Given the description of an element on the screen output the (x, y) to click on. 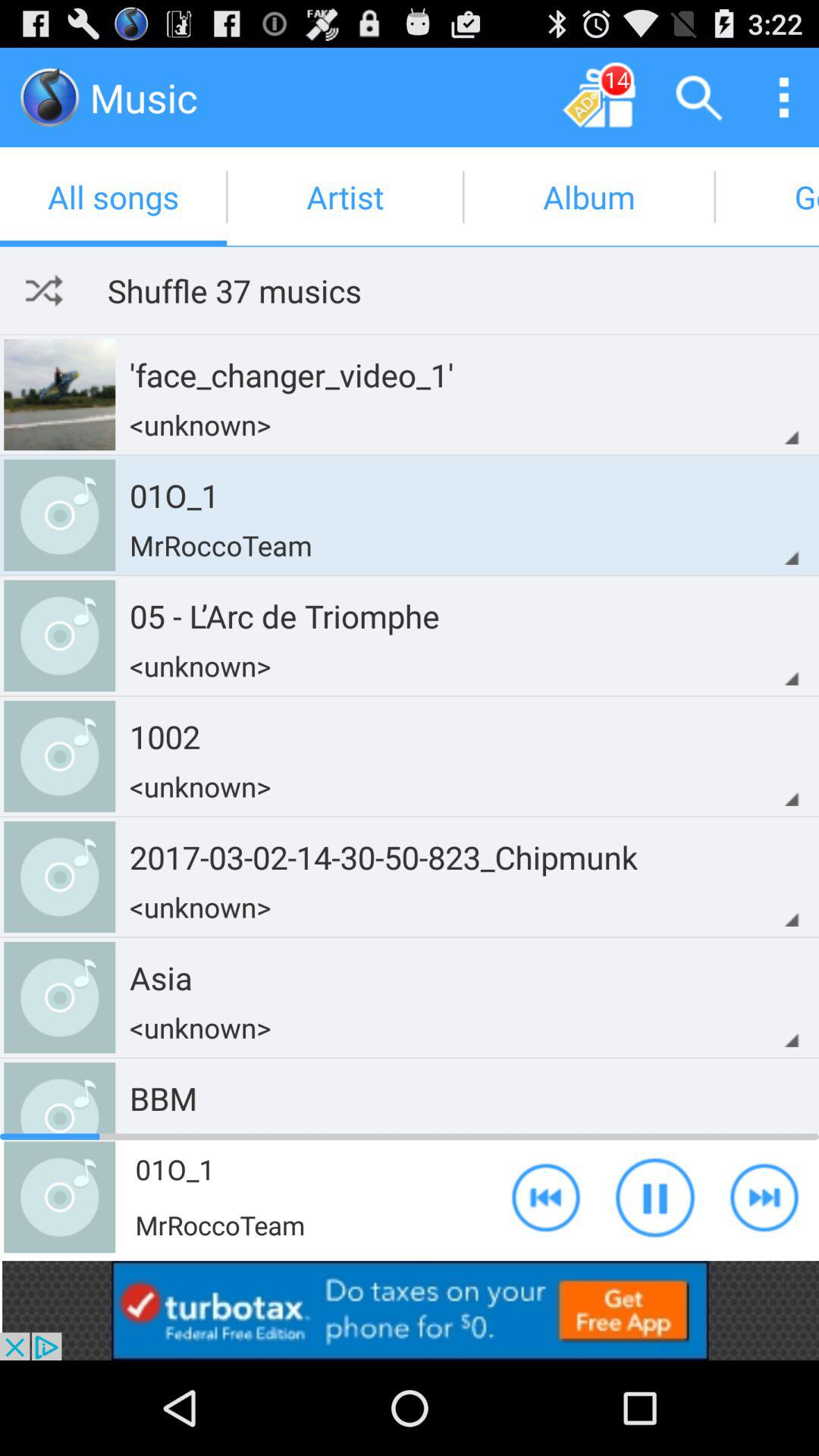
go to music (49, 97)
